Given the description of an element on the screen output the (x, y) to click on. 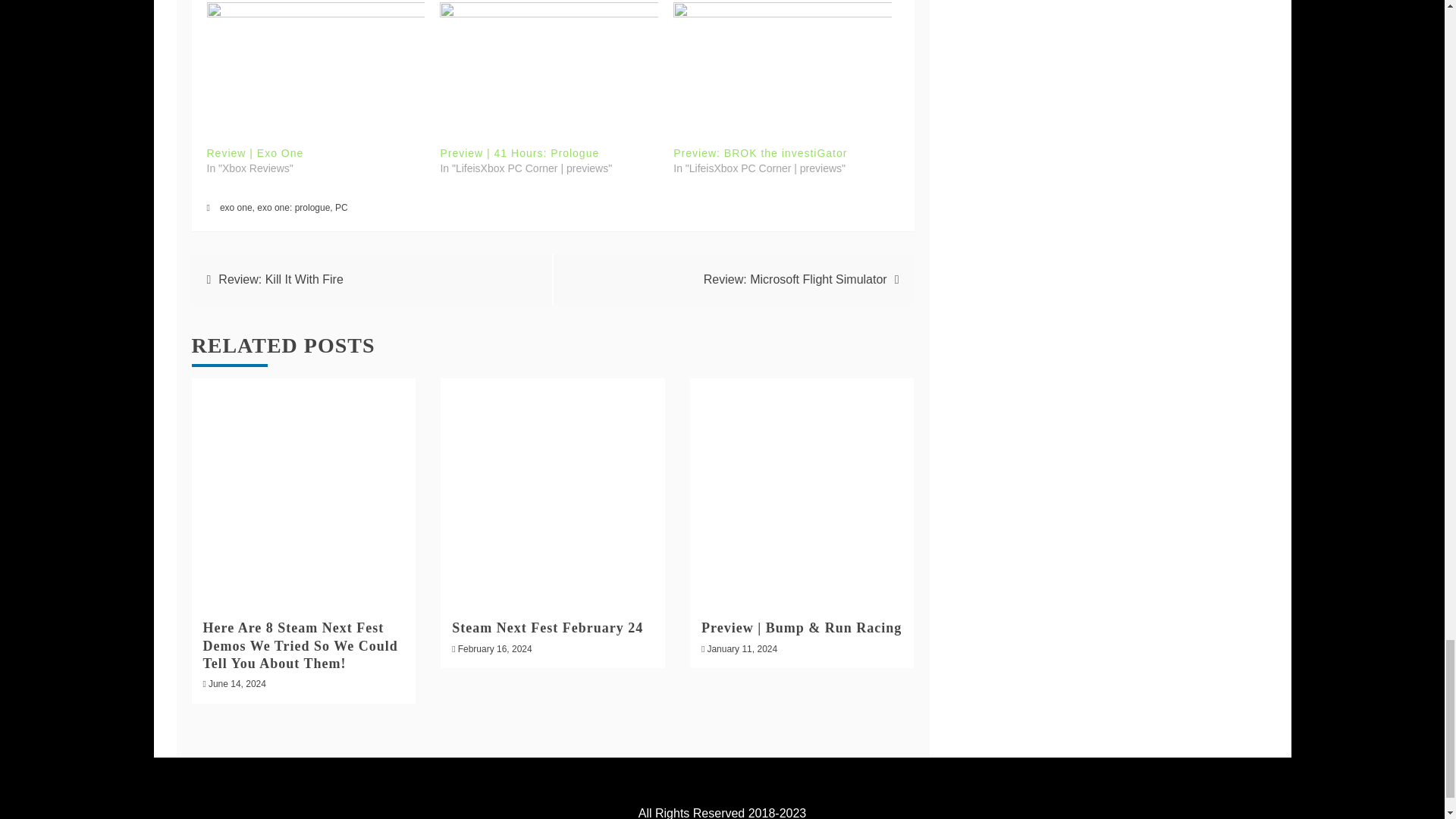
Review: Kill It With Fire (280, 278)
Preview: BROK the investiGator (759, 152)
Preview: BROK the investiGator (781, 64)
exo one (235, 207)
Preview: BROK the investiGator (759, 152)
exo one: prologue (293, 207)
PC (340, 207)
Review: Microsoft Flight Simulator (794, 278)
